Given the description of an element on the screen output the (x, y) to click on. 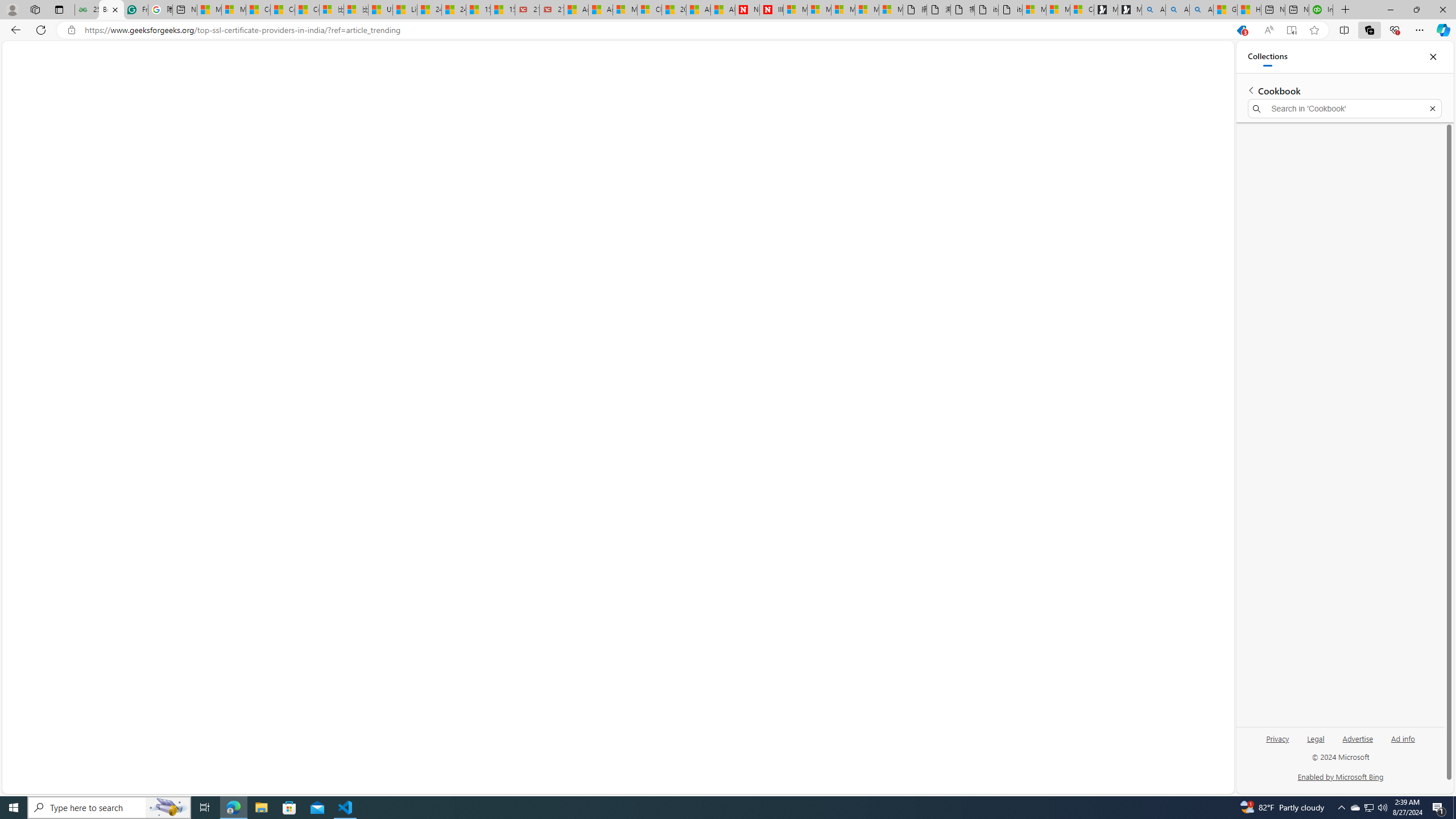
itconcepthk.com/projector_solutions.mp4 (1009, 9)
Elon Musk's xAI releases Grok-2 AI assistant (1125, 173)
AutomationID: bg2 (156, 319)
Privacy Policy (949, 779)
Got It ! (1374, 779)
Installation support is included. (717, 640)
Class: Bz112c Bz112c-r9oPif (1415, 69)
View More (1176, 115)
Newsweek - News, Analysis, Politics, Business, Technology (747, 9)
AutomationID: gradient3 (155, 319)
Blogs (116, 80)
